Given the description of an element on the screen output the (x, y) to click on. 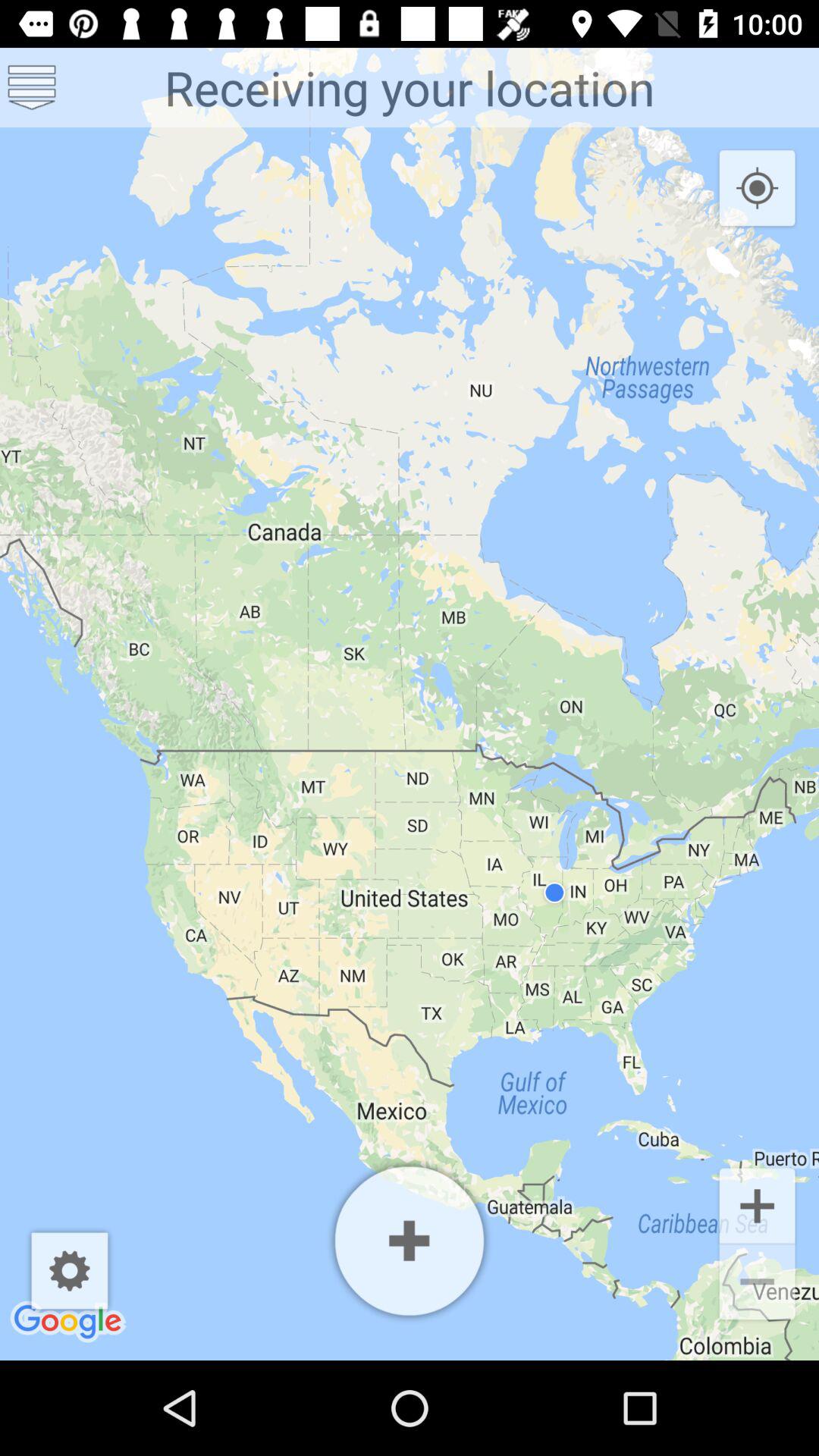
open the menu (31, 87)
